Given the description of an element on the screen output the (x, y) to click on. 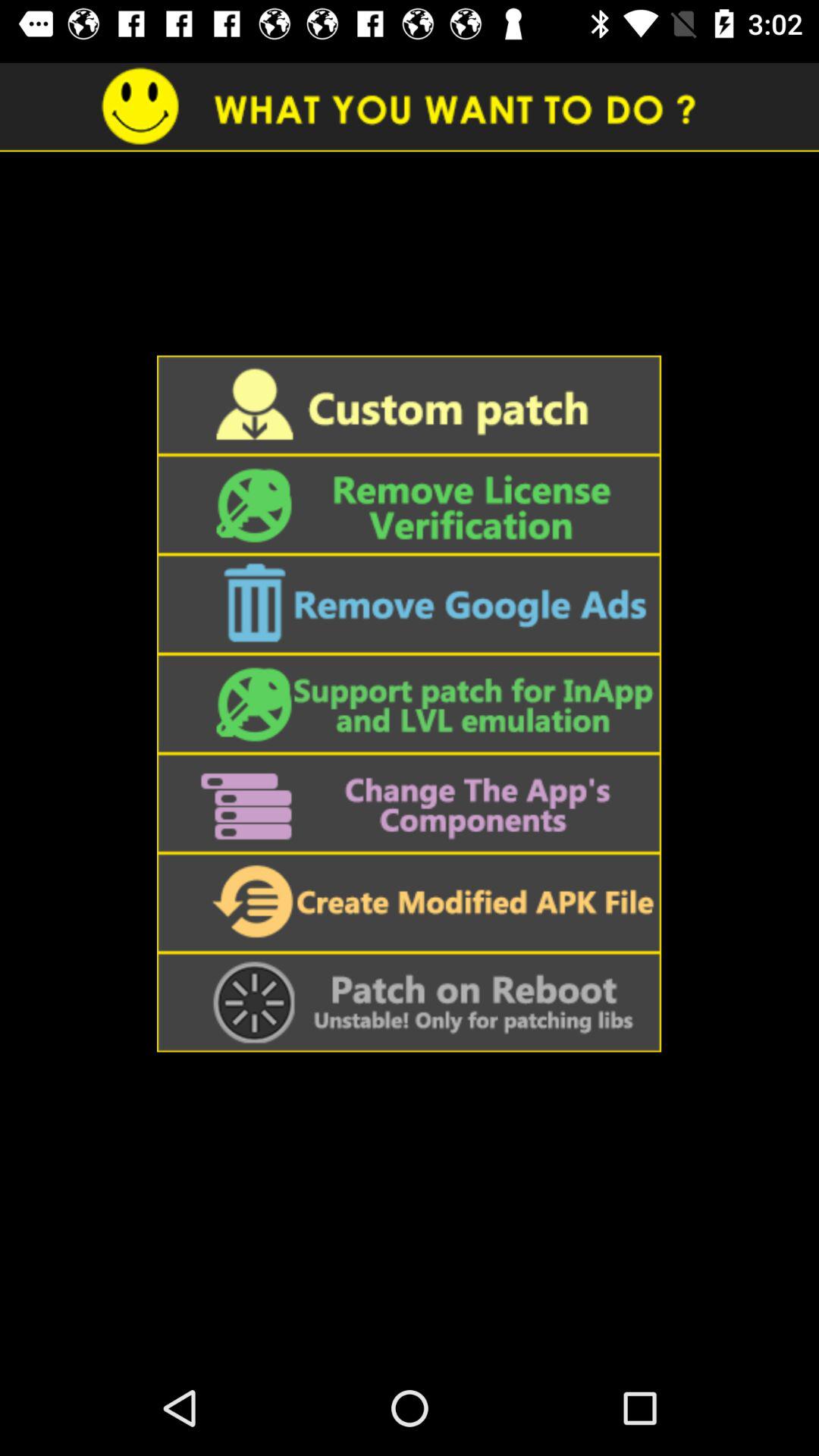
apply patch on reboot (408, 1002)
